Given the description of an element on the screen output the (x, y) to click on. 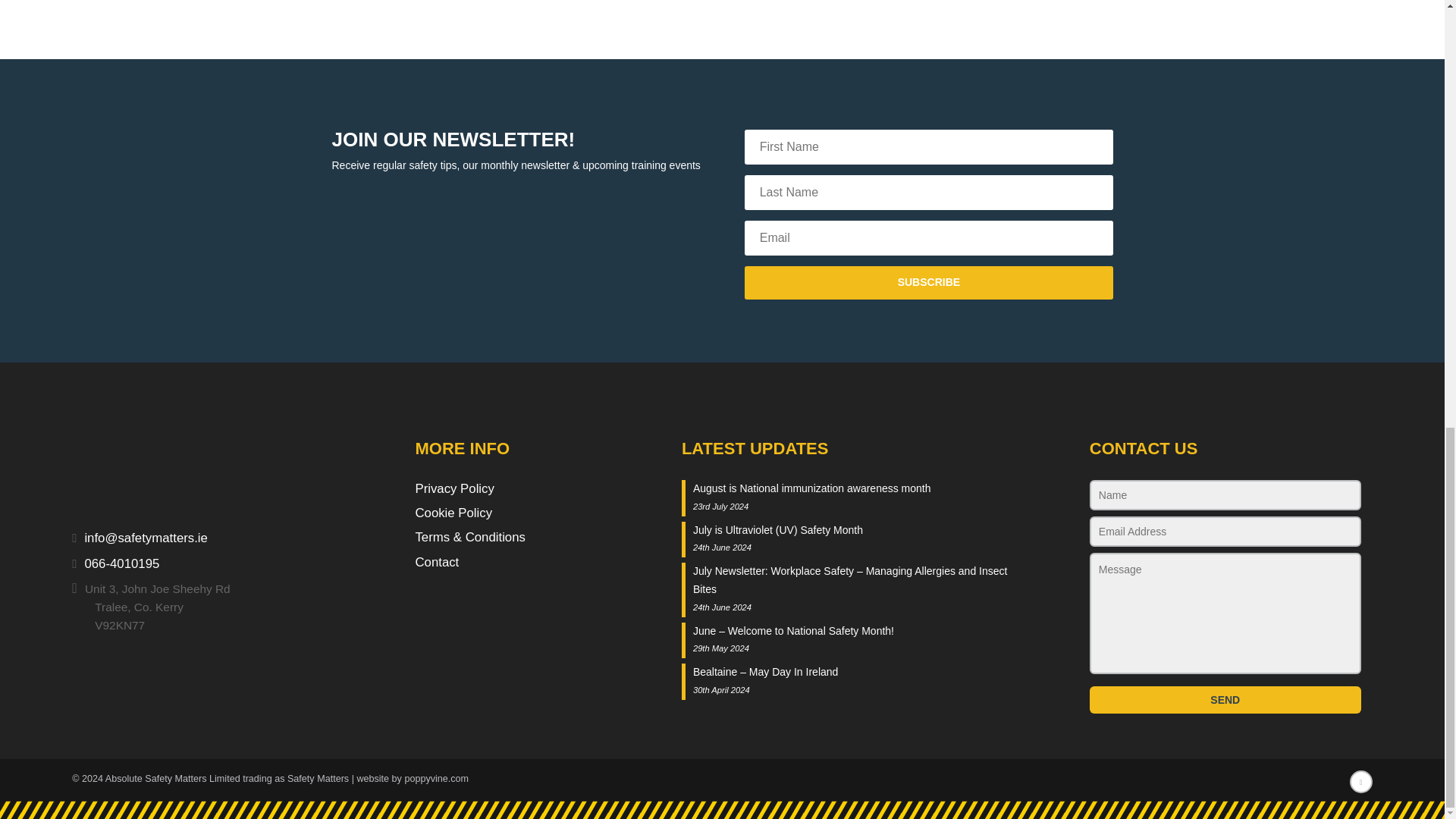
EHAI-Logo (164, 15)
atex-accreditation-1 (536, 15)
Send (1225, 699)
Approved-training-provider-IOSH-logo (350, 15)
